Given the description of an element on the screen output the (x, y) to click on. 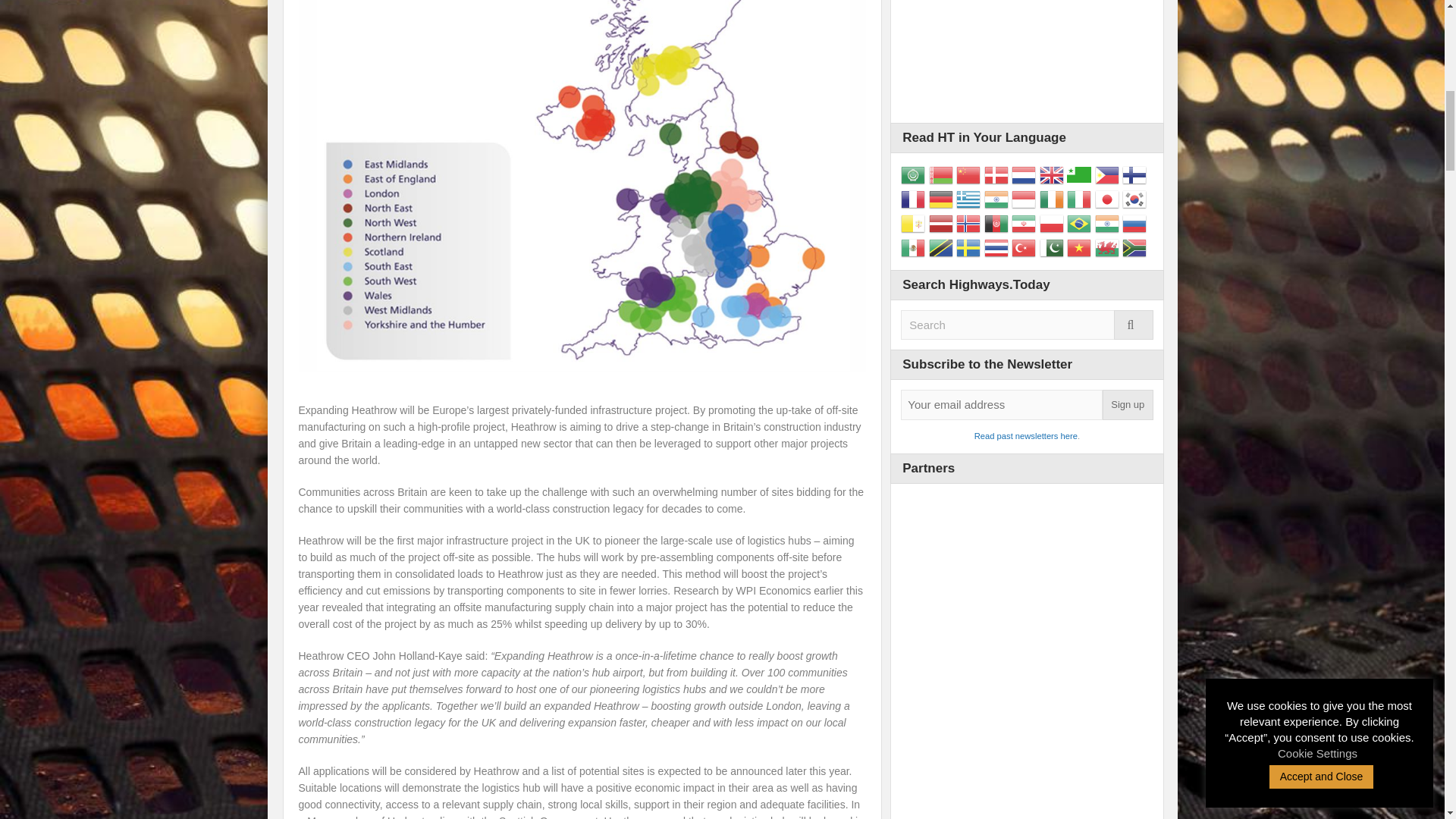
Search (1027, 324)
Search (1027, 324)
Sign up (1127, 404)
